Given the description of an element on the screen output the (x, y) to click on. 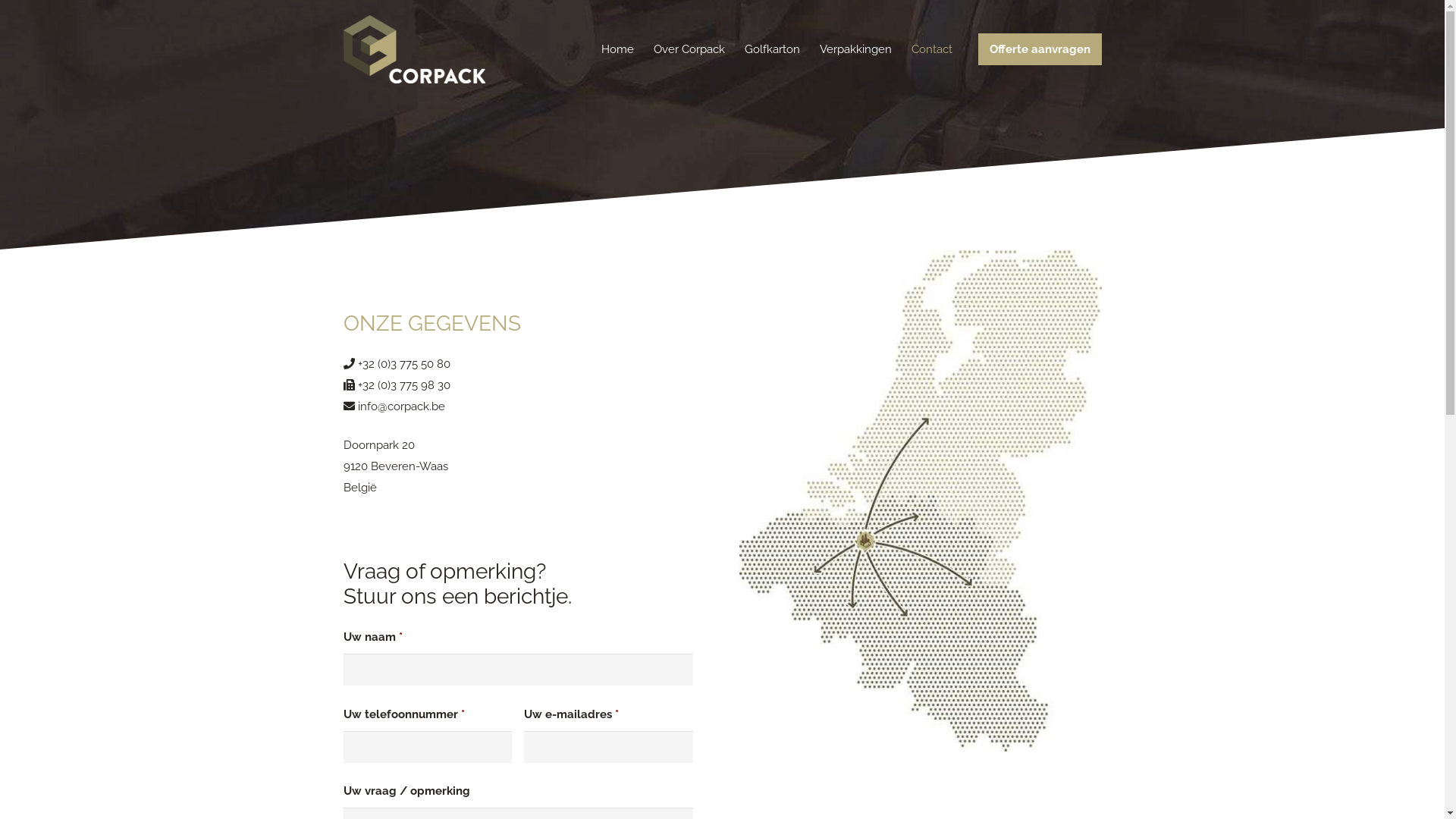
Offerte aanvragen Element type: text (1039, 49)
+32 (0)3 775 50 80 Element type: text (403, 363)
info@corpack.be Element type: text (401, 406)
Versturen Element type: text (38, 16)
